Given the description of an element on the screen output the (x, y) to click on. 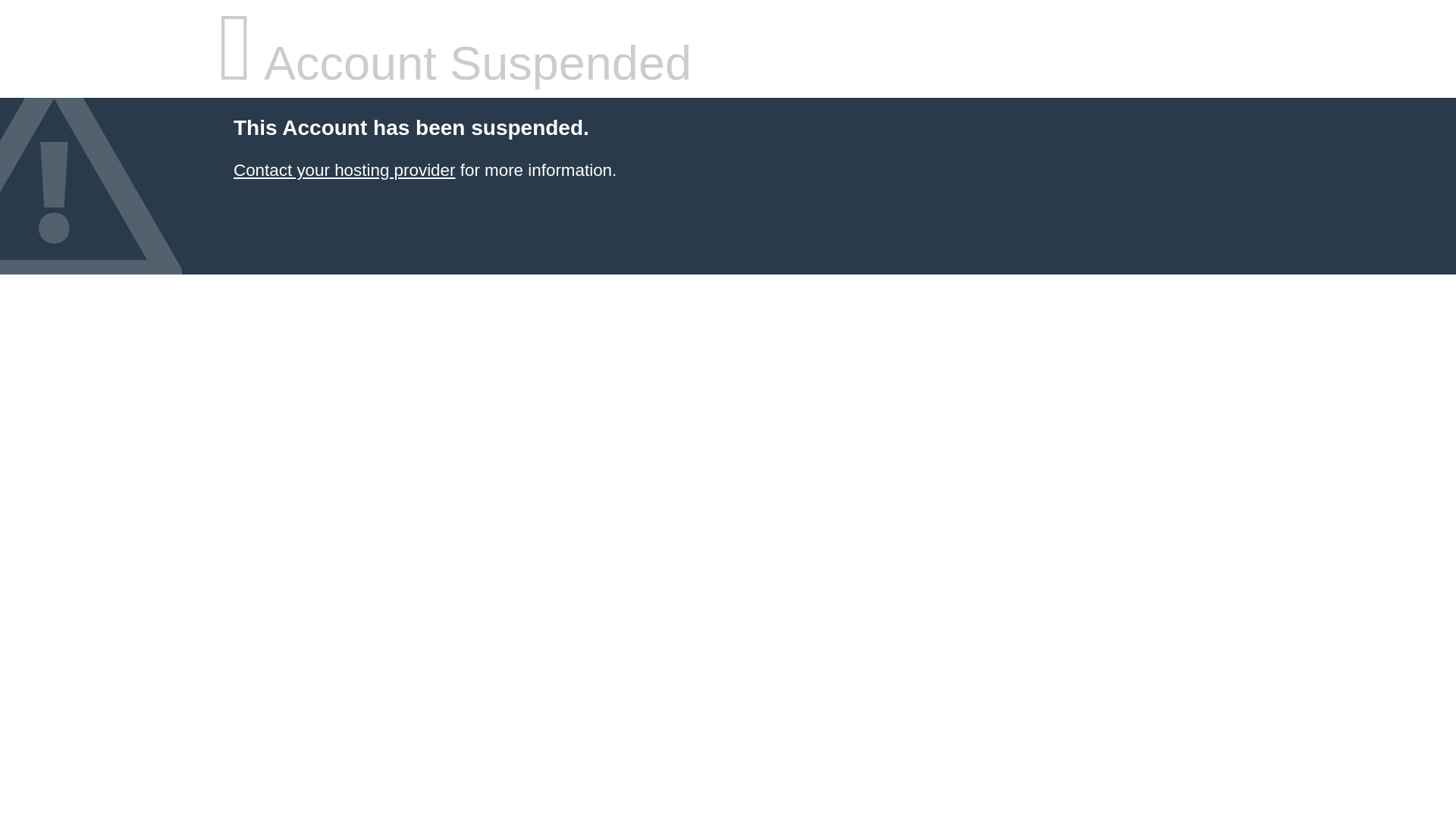
Contact your hosting provider (343, 169)
